Given the description of an element on the screen output the (x, y) to click on. 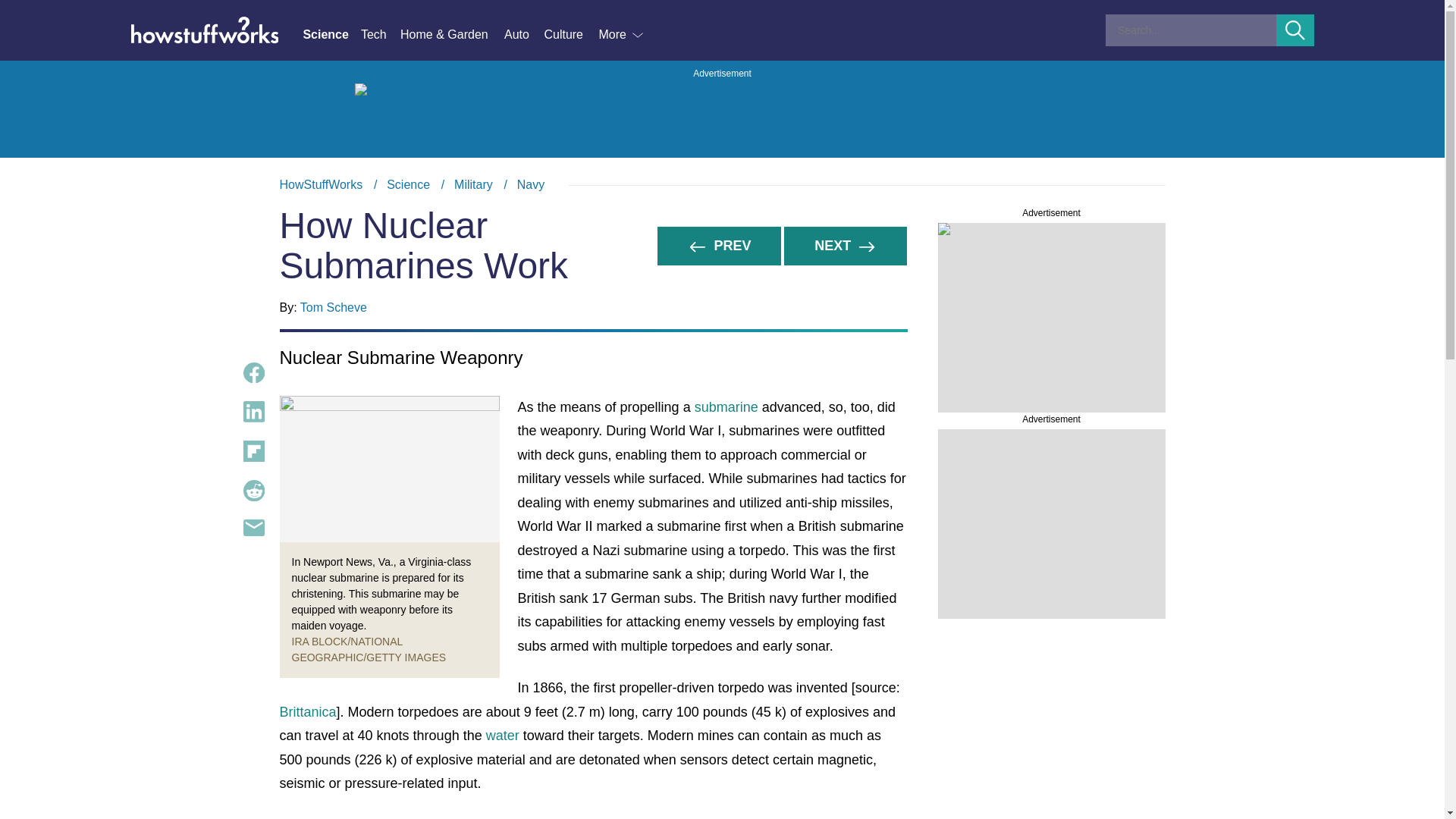
Share Content on LinkedIn (253, 411)
Culture (570, 34)
Submit Search (1295, 29)
Share Content via Email (253, 527)
Share Content on Facebook (253, 372)
Science (408, 184)
HowStuffWorks (320, 184)
More (621, 34)
Tech (380, 34)
Share Content on Flipboard (253, 450)
Science (721, 185)
Share Content on Reddit (330, 34)
Auto (253, 490)
